Given the description of an element on the screen output the (x, y) to click on. 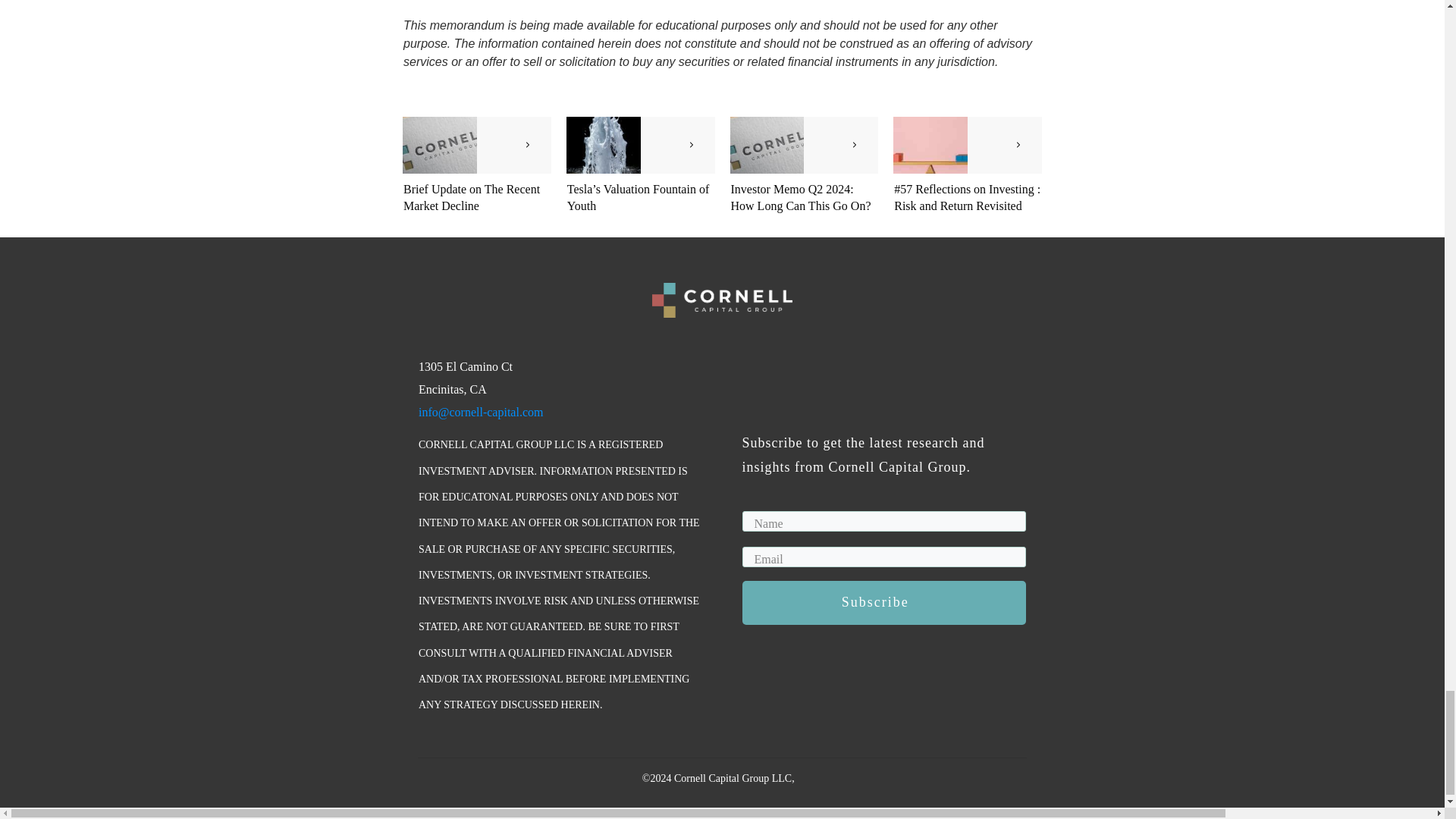
Investor Memo Q2 2024: How Long Can This Go On? (800, 197)
Subscribe (883, 602)
Investor Memo Q2 2024: How Long Can This Go On? (800, 197)
Brief Update on The Recent Market Decline (471, 197)
Brief Update on The Recent Market Decline (471, 197)
